Given the description of an element on the screen output the (x, y) to click on. 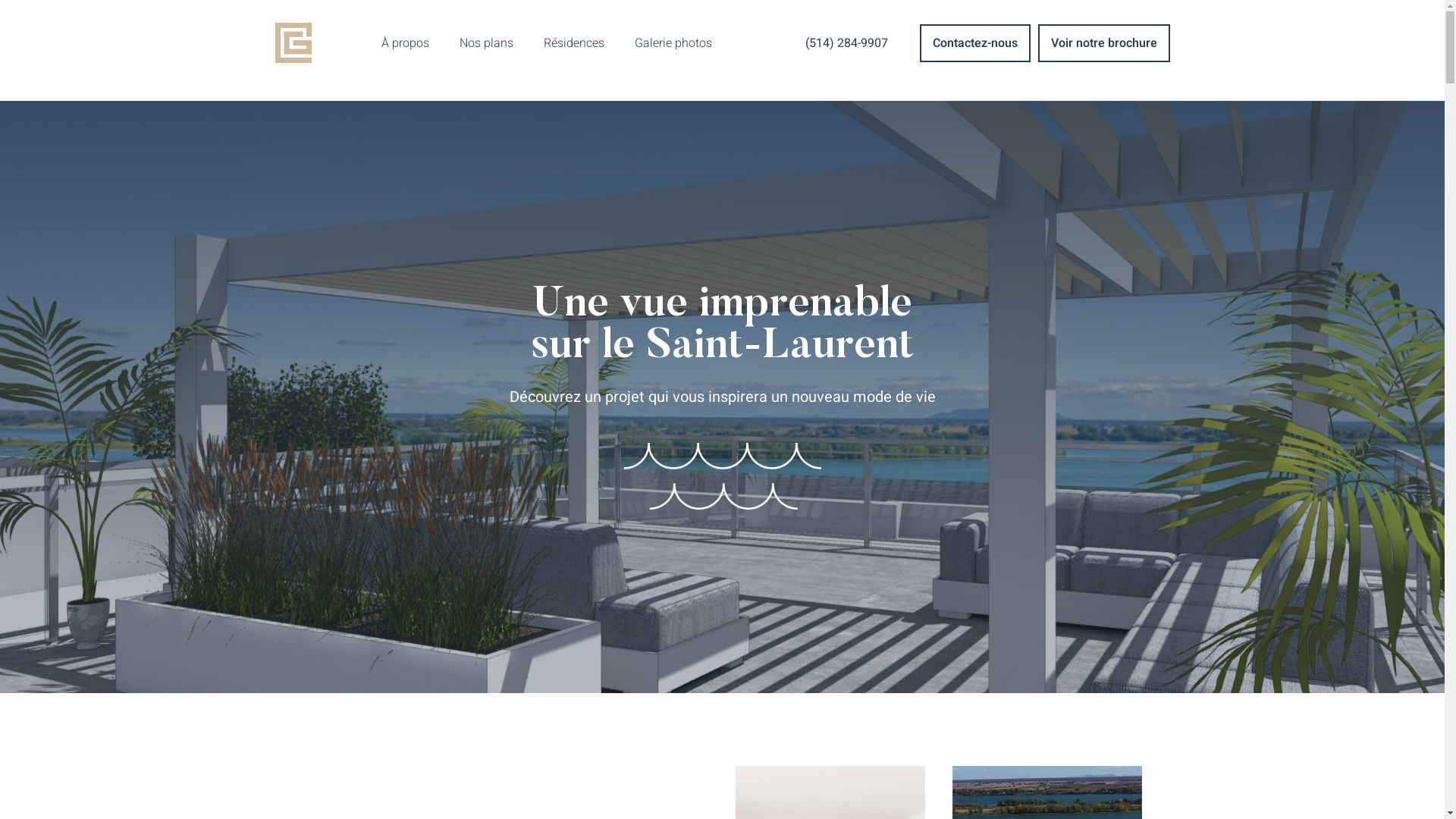
Galerie photos Element type: text (672, 42)
Voir notre brochure Element type: text (1103, 43)
(514) 284-9907 Element type: text (846, 43)
Nos plans Element type: text (486, 42)
Contactez-nous Element type: text (974, 43)
